Given the description of an element on the screen output the (x, y) to click on. 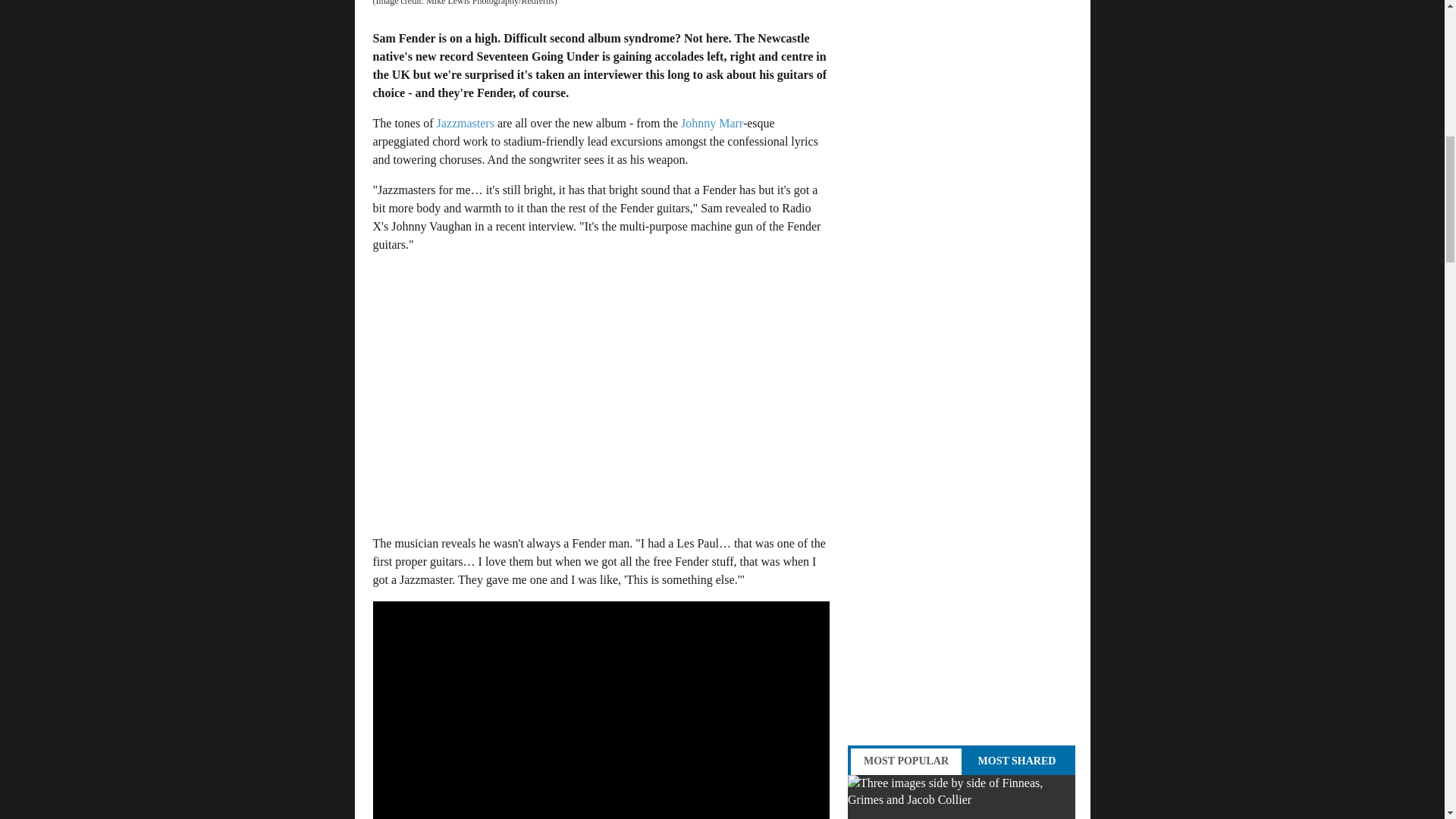
Which audio interfaces do the pros use? (961, 796)
